Given the description of an element on the screen output the (x, y) to click on. 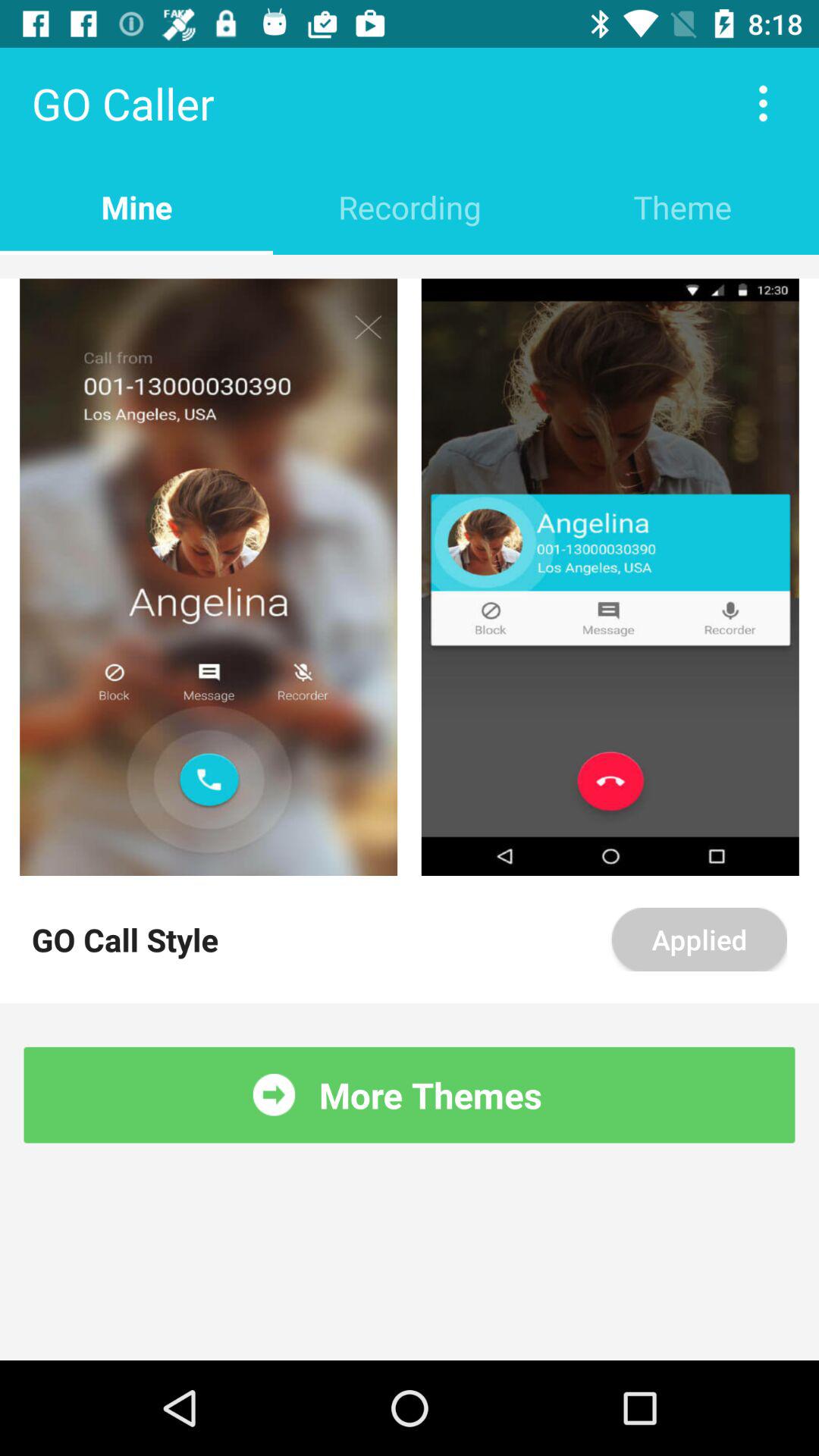
choose go call style item (124, 939)
